Given the description of an element on the screen output the (x, y) to click on. 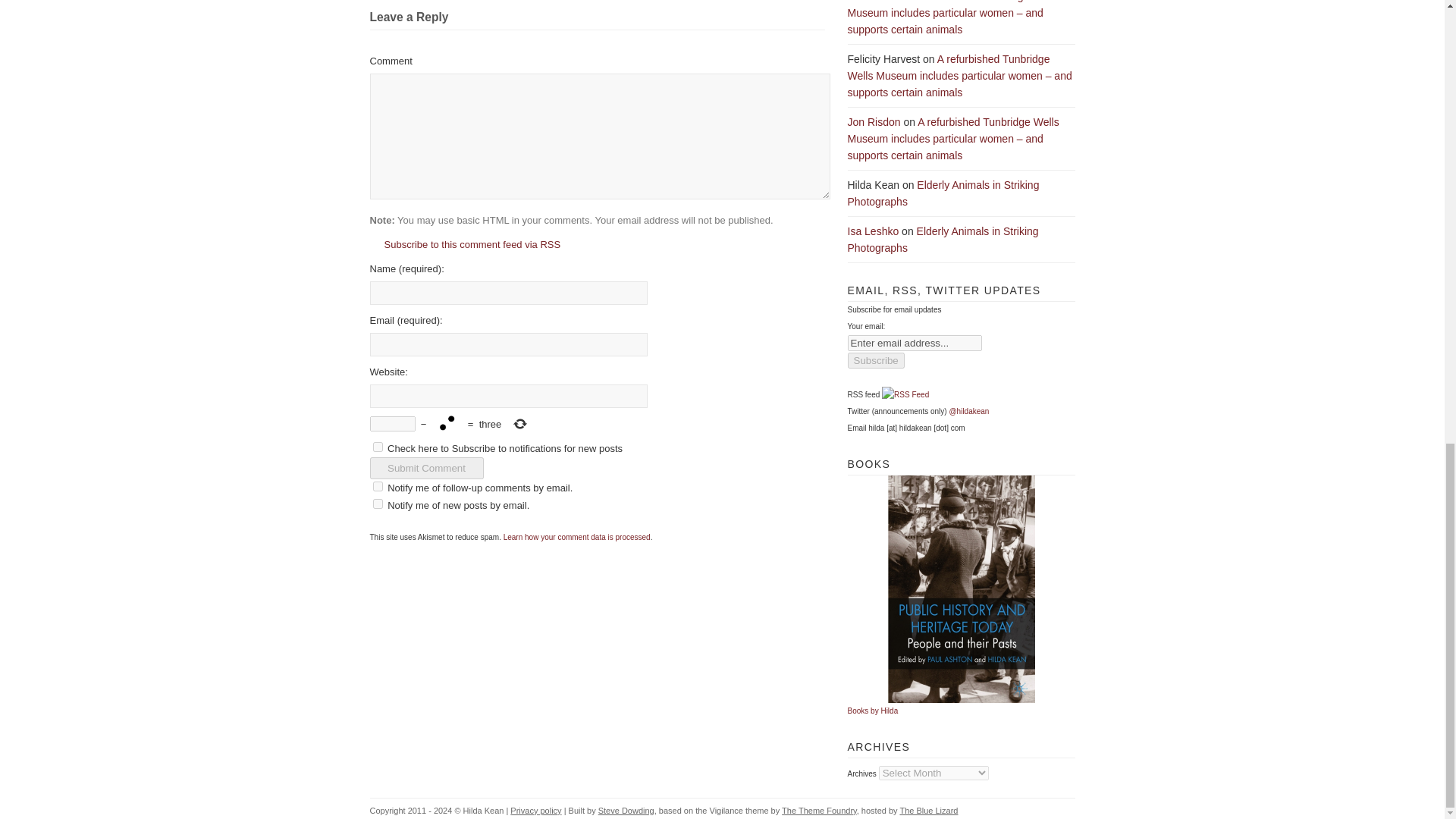
Submit Comment (426, 468)
Learn how your comment data is processed (576, 537)
Enter email address... (914, 342)
subscribe (377, 486)
Submit Comment (426, 468)
1 (377, 447)
subscribe (377, 503)
Subscribe to this comment feed via RSS (464, 244)
Subscribe (875, 360)
